Given the description of an element on the screen output the (x, y) to click on. 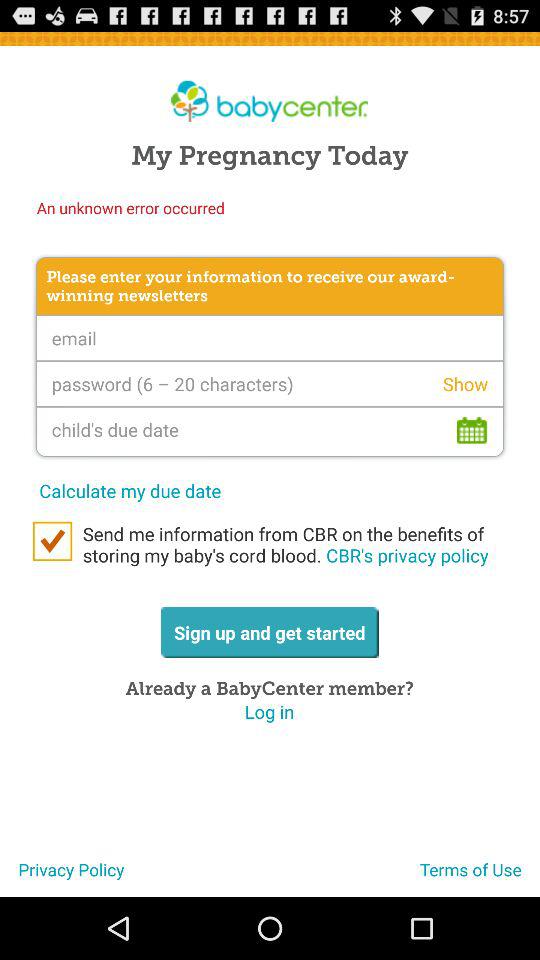
tap item below the calculate my due app (52, 541)
